Given the description of an element on the screen output the (x, y) to click on. 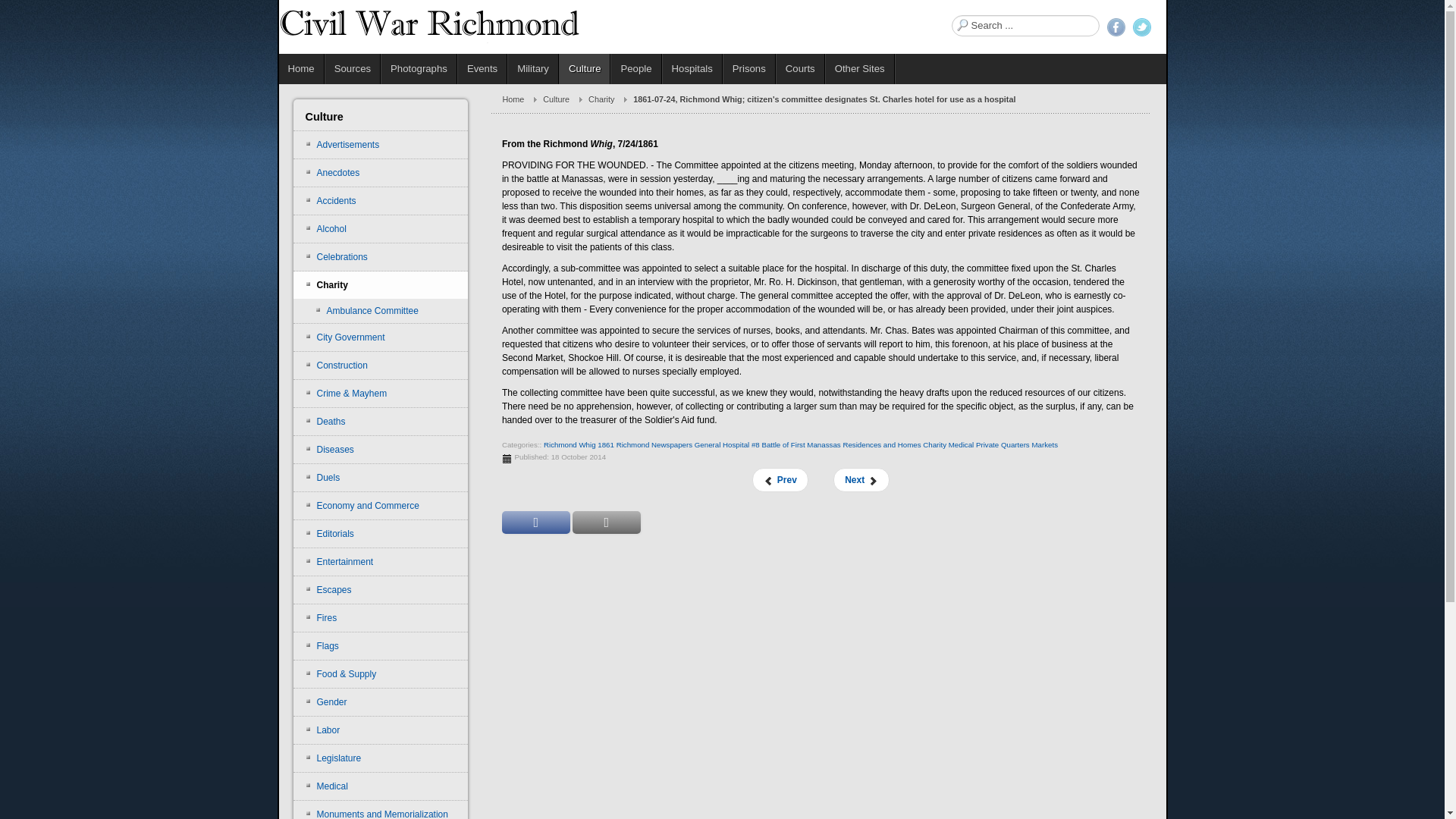
Charity (610, 99)
Alcohol (380, 228)
1861 (605, 444)
Twitter (1141, 27)
Home (301, 69)
Events (482, 69)
Home (522, 99)
Hospitals (692, 69)
Culture (585, 69)
Search ... (1024, 25)
Charity (934, 444)
Facebook (1115, 27)
Sources (352, 69)
Facebook (1115, 27)
Prev (780, 479)
